Given the description of an element on the screen output the (x, y) to click on. 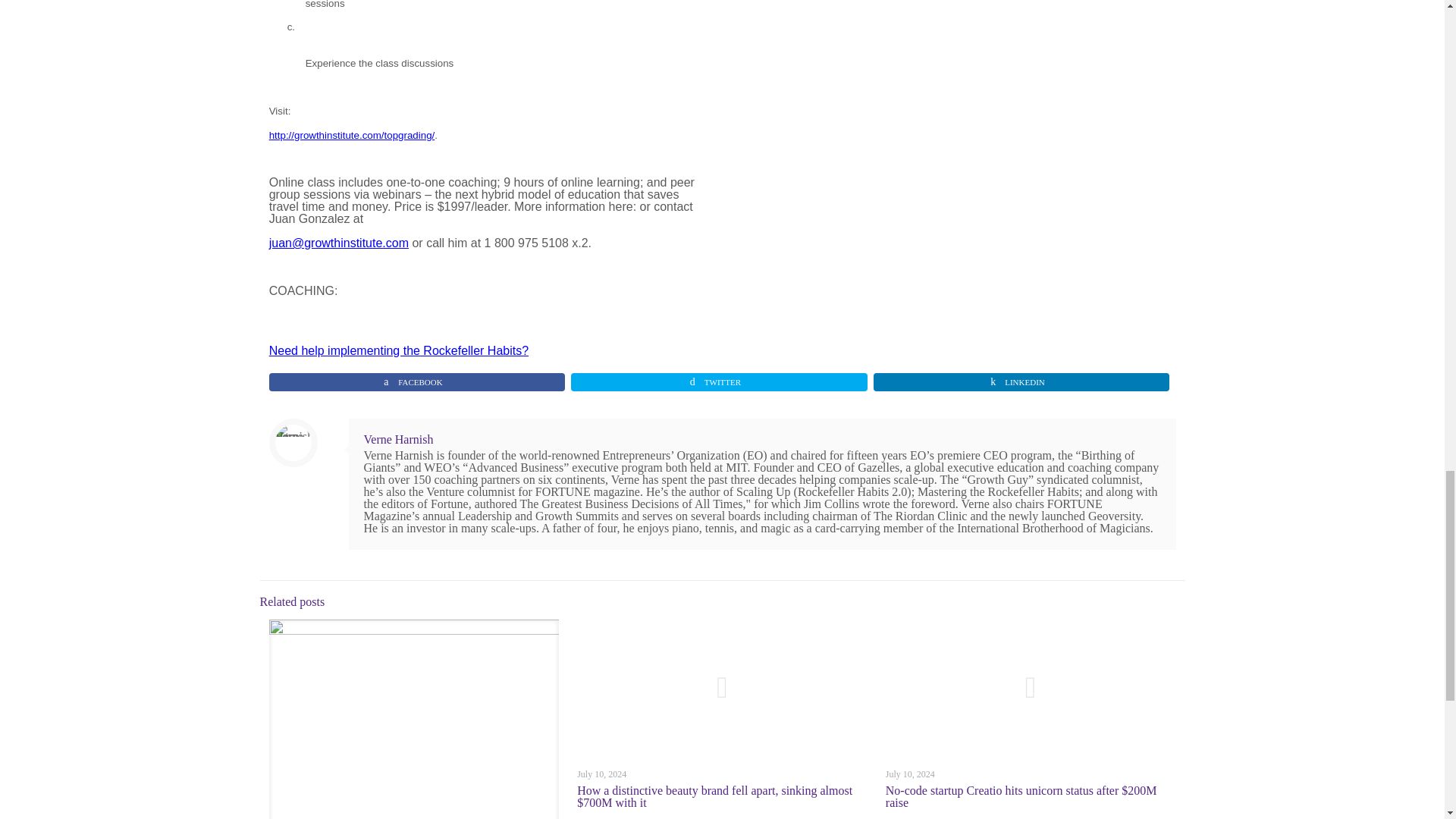
Share on Twitter (718, 382)
Share on LinkedIn (1021, 382)
FACEBOOK (417, 382)
TWITTER (718, 382)
Need help implementing the Rockefeller Habits? (398, 356)
LINKEDIN (1021, 382)
Verne Harnish (398, 439)
Share on Facebook (417, 382)
